Given the description of an element on the screen output the (x, y) to click on. 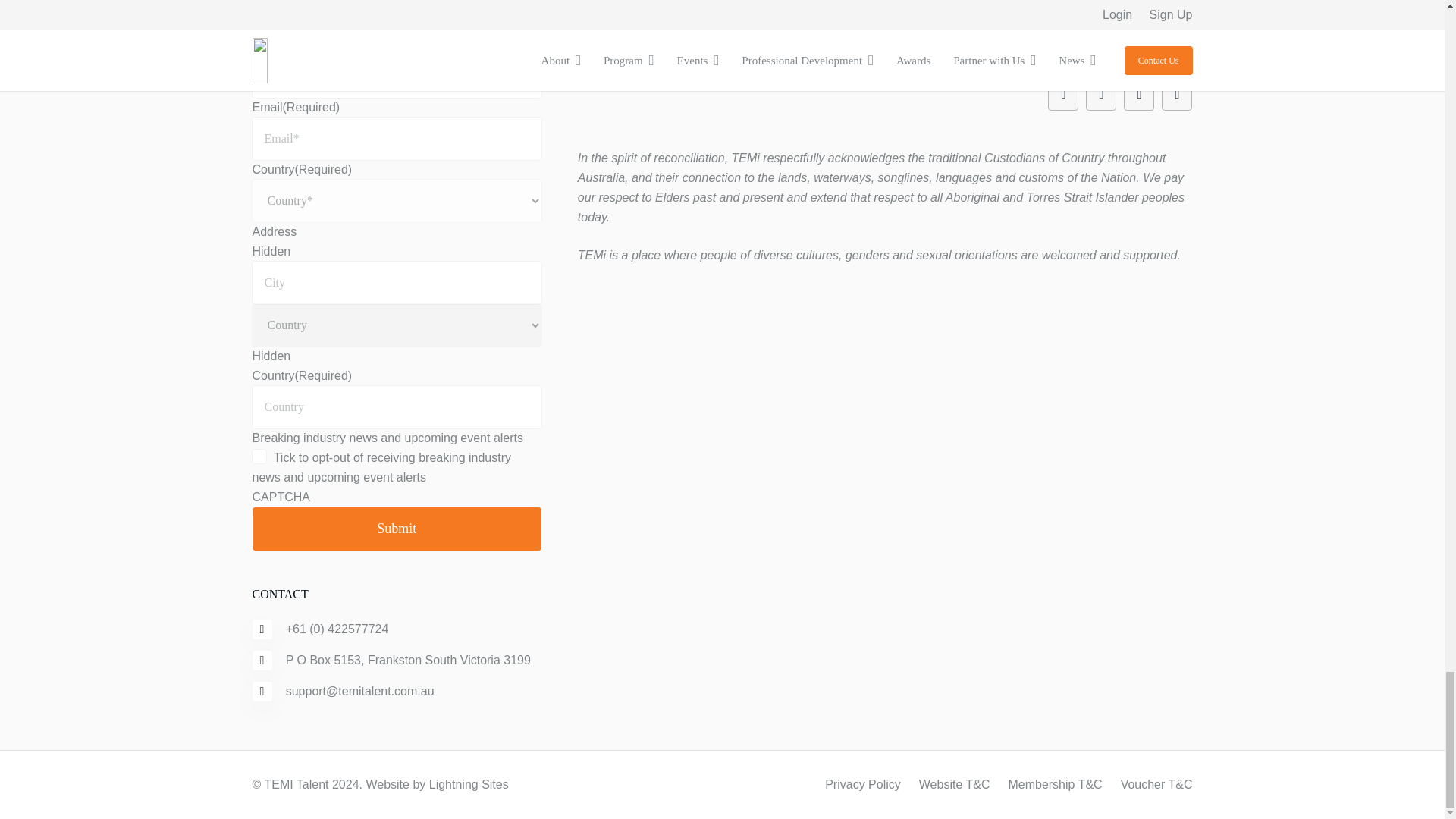
Submit (395, 528)
LinkedIn (1139, 95)
YouTube (1101, 95)
Facebook (1063, 95)
LinkedIn (1176, 95)
